Given the description of an element on the screen output the (x, y) to click on. 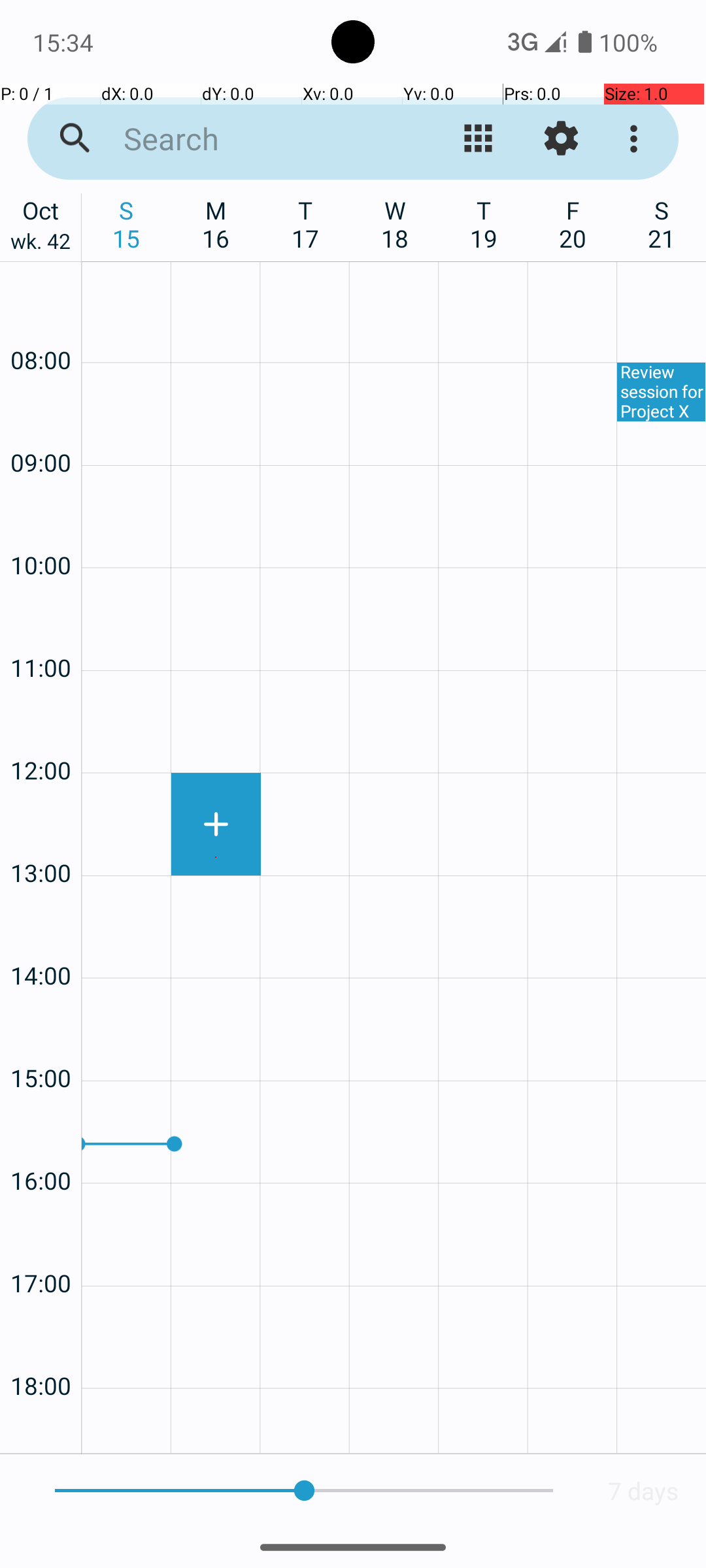
wk. 42 Element type: android.widget.TextView (40, 243)
7 days Element type: android.widget.TextView (642, 1490)
08:00 Element type: android.widget.TextView (40, 324)
09:00 Element type: android.widget.TextView (40, 427)
10:00 Element type: android.widget.TextView (40, 529)
11:00 Element type: android.widget.TextView (40, 632)
12:00 Element type: android.widget.TextView (40, 735)
13:00 Element type: android.widget.TextView (40, 837)
14:00 Element type: android.widget.TextView (40, 940)
15:00 Element type: android.widget.TextView (40, 1042)
16:00 Element type: android.widget.TextView (40, 1145)
17:00 Element type: android.widget.TextView (40, 1247)
18:00 Element type: android.widget.TextView (40, 1350)
19:00 Element type: android.widget.TextView (40, 1428)
S
15 Element type: android.widget.TextView (126, 223)
M
16 Element type: android.widget.TextView (215, 223)
T
17 Element type: android.widget.TextView (305, 223)
W
18 Element type: android.widget.TextView (394, 223)
T
19 Element type: android.widget.TextView (483, 223)
F
20 Element type: android.widget.TextView (572, 223)
S
21 Element type: android.widget.TextView (661, 223)
Review session for Project X Element type: android.widget.TextView (661, 391)
